Given the description of an element on the screen output the (x, y) to click on. 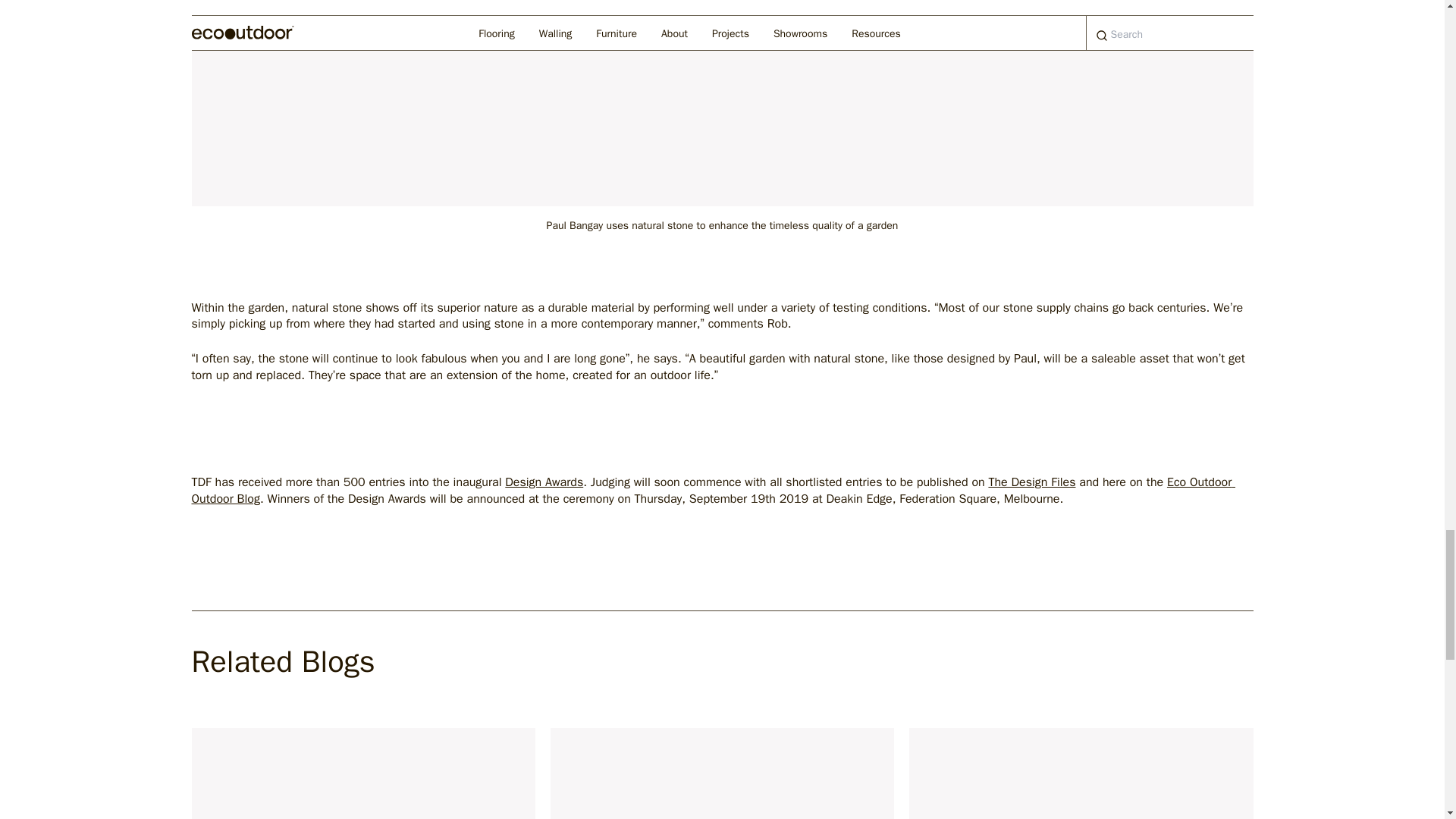
Csa Lucy 01 (1080, 773)
221107 ECO OUTDOOR DAY2 452 (362, 773)
Designers Outdoor Furniture E1573084658970 (721, 773)
